Given the description of an element on the screen output the (x, y) to click on. 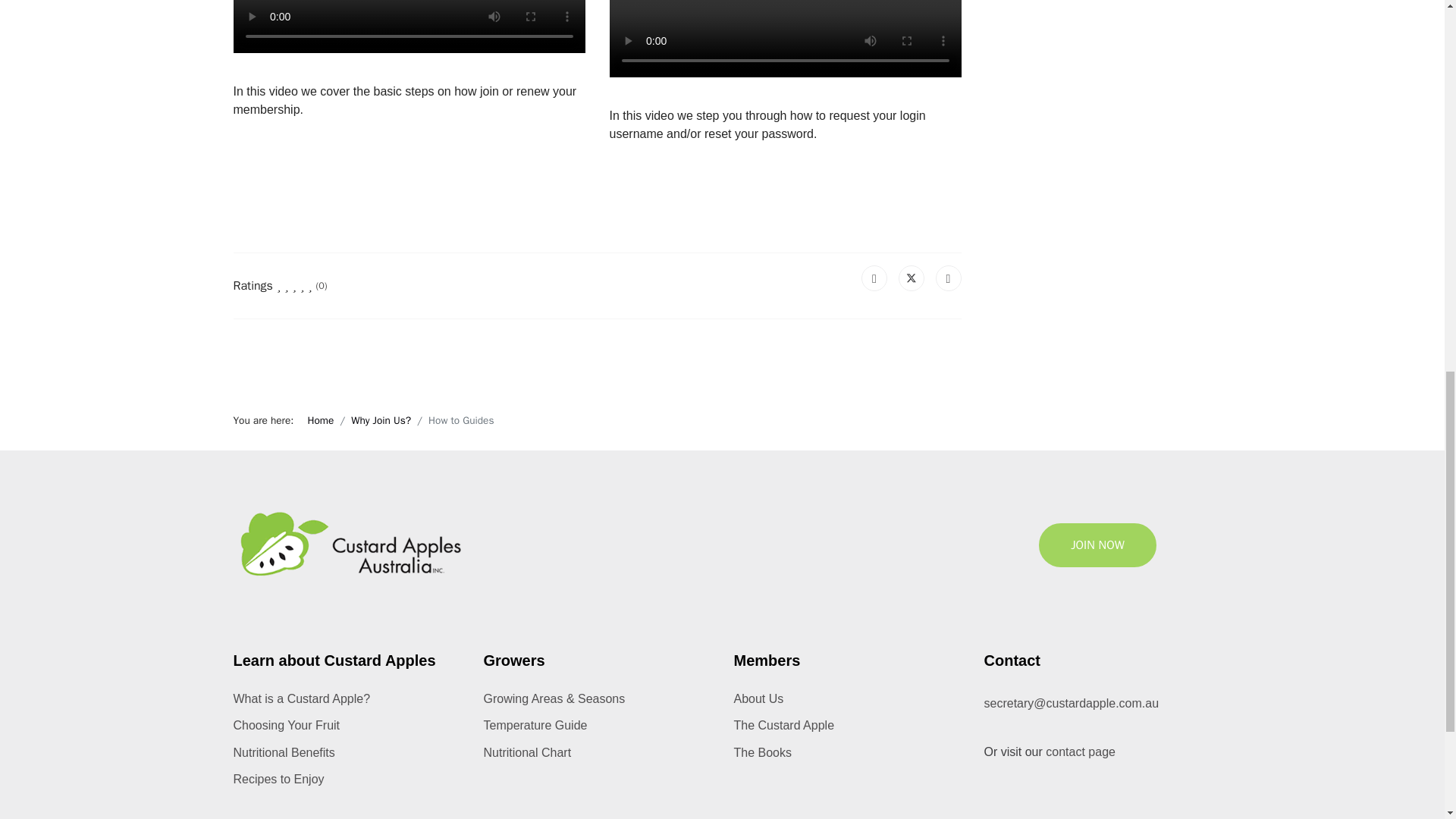
facebook (1074, 812)
LinkedIn (948, 278)
Contact us (1080, 751)
Join Now (1097, 545)
Facebook (873, 278)
